Given the description of an element on the screen output the (x, y) to click on. 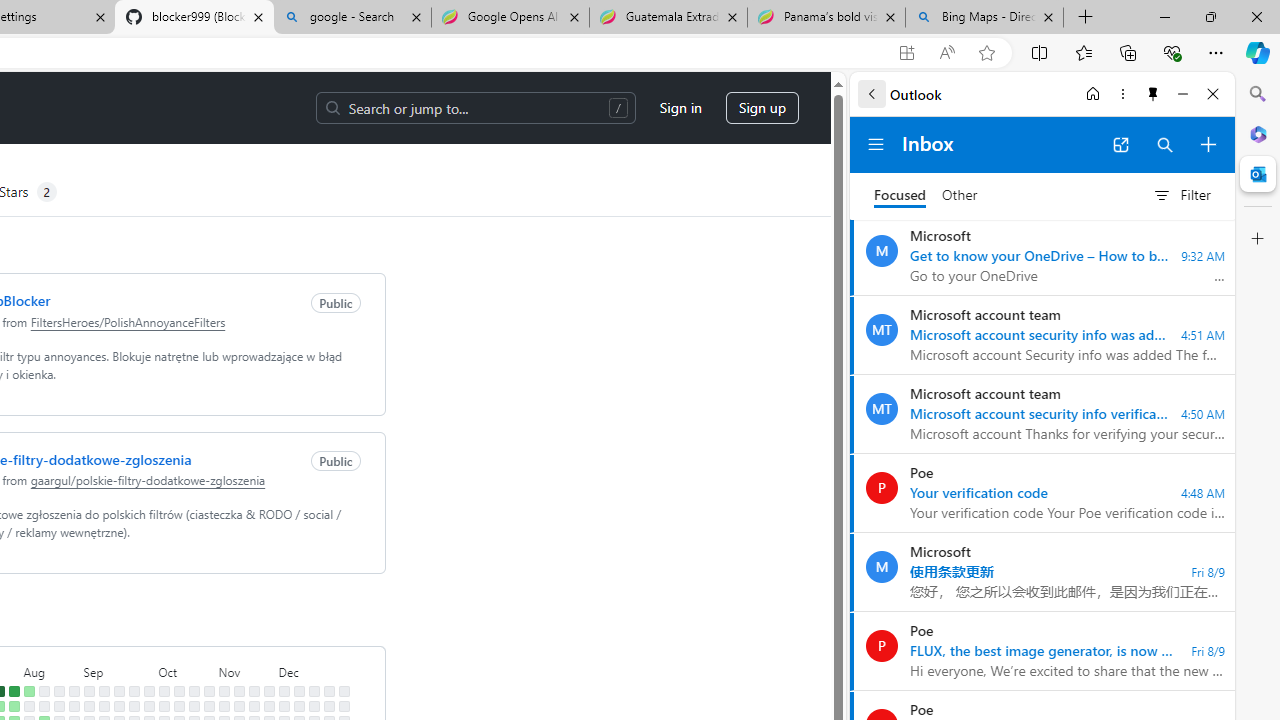
No contributions on September 16th. (118, 706)
No contributions on September 30th. (148, 706)
No contributions on December 22nd. (328, 691)
No contributions on September 8th. (104, 691)
No contributions on September 9th. (104, 706)
Compose new mail (1208, 144)
Google Opens AI Academy for Startups - Nearshore Americas (509, 17)
No contributions on December 30th. (343, 706)
No contributions on November 24th. (268, 691)
No contributions on November 25th. (268, 706)
